Given the description of an element on the screen output the (x, y) to click on. 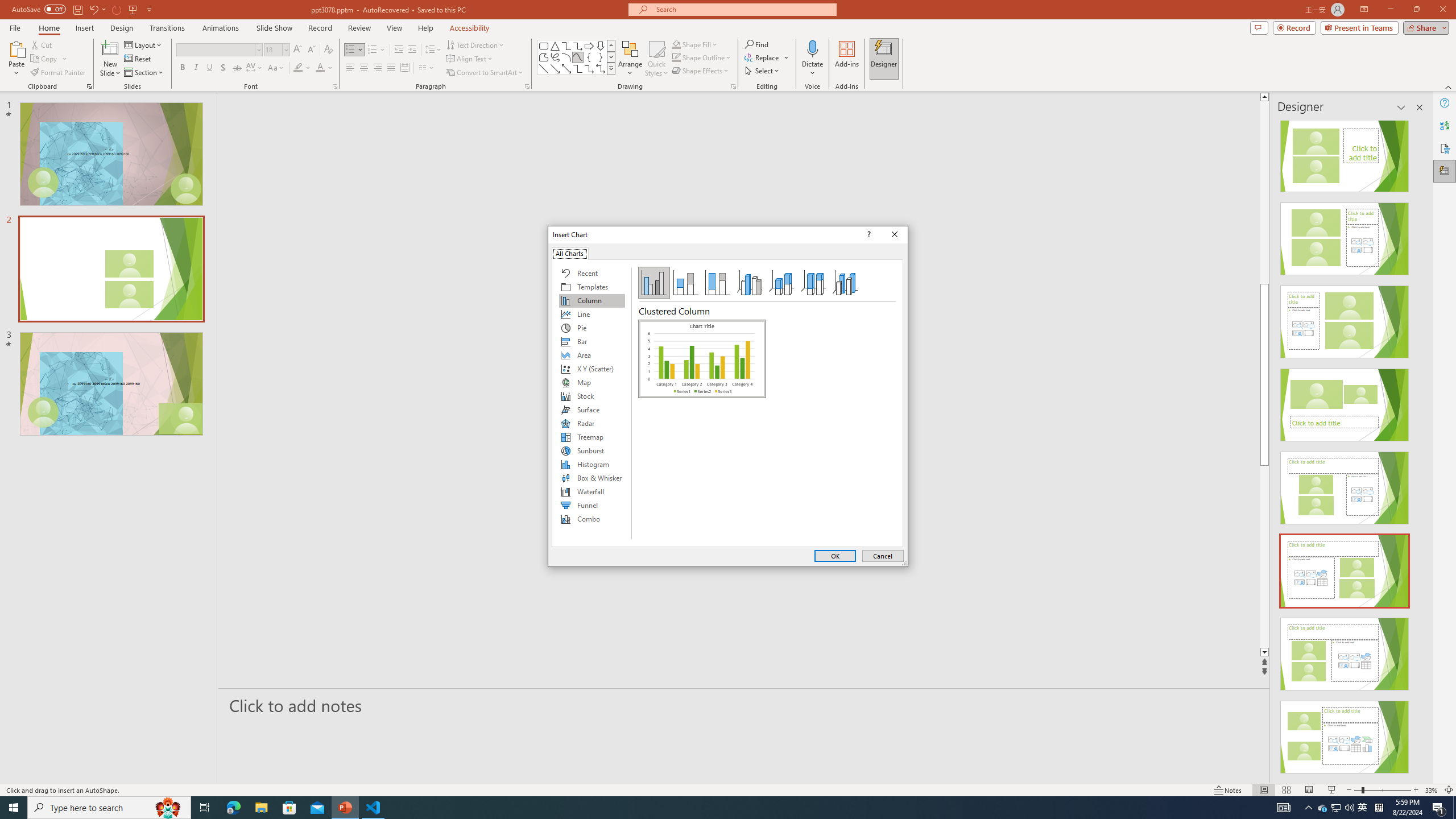
Recent (591, 273)
Histogram (591, 464)
